Given the description of an element on the screen output the (x, y) to click on. 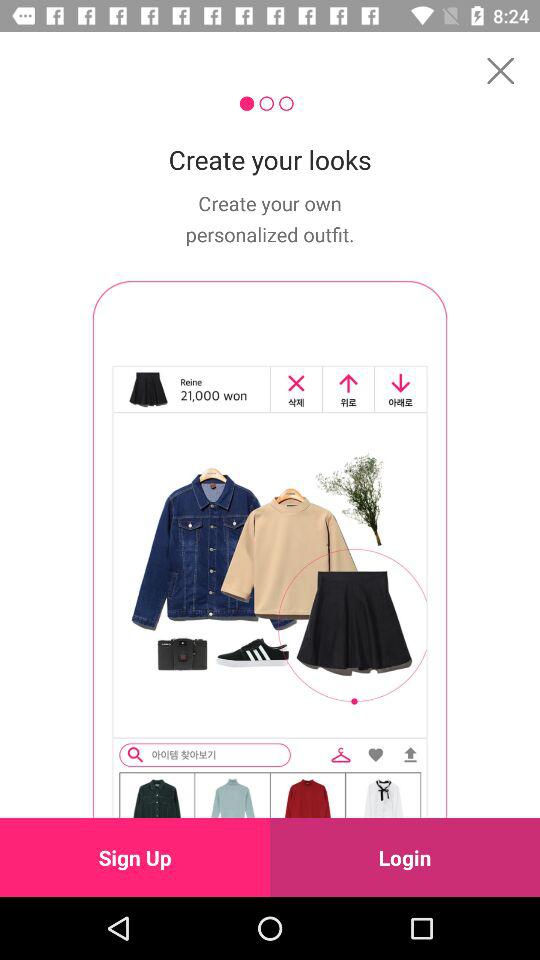
turn on the icon to the right of sign up icon (405, 857)
